Given the description of an element on the screen output the (x, y) to click on. 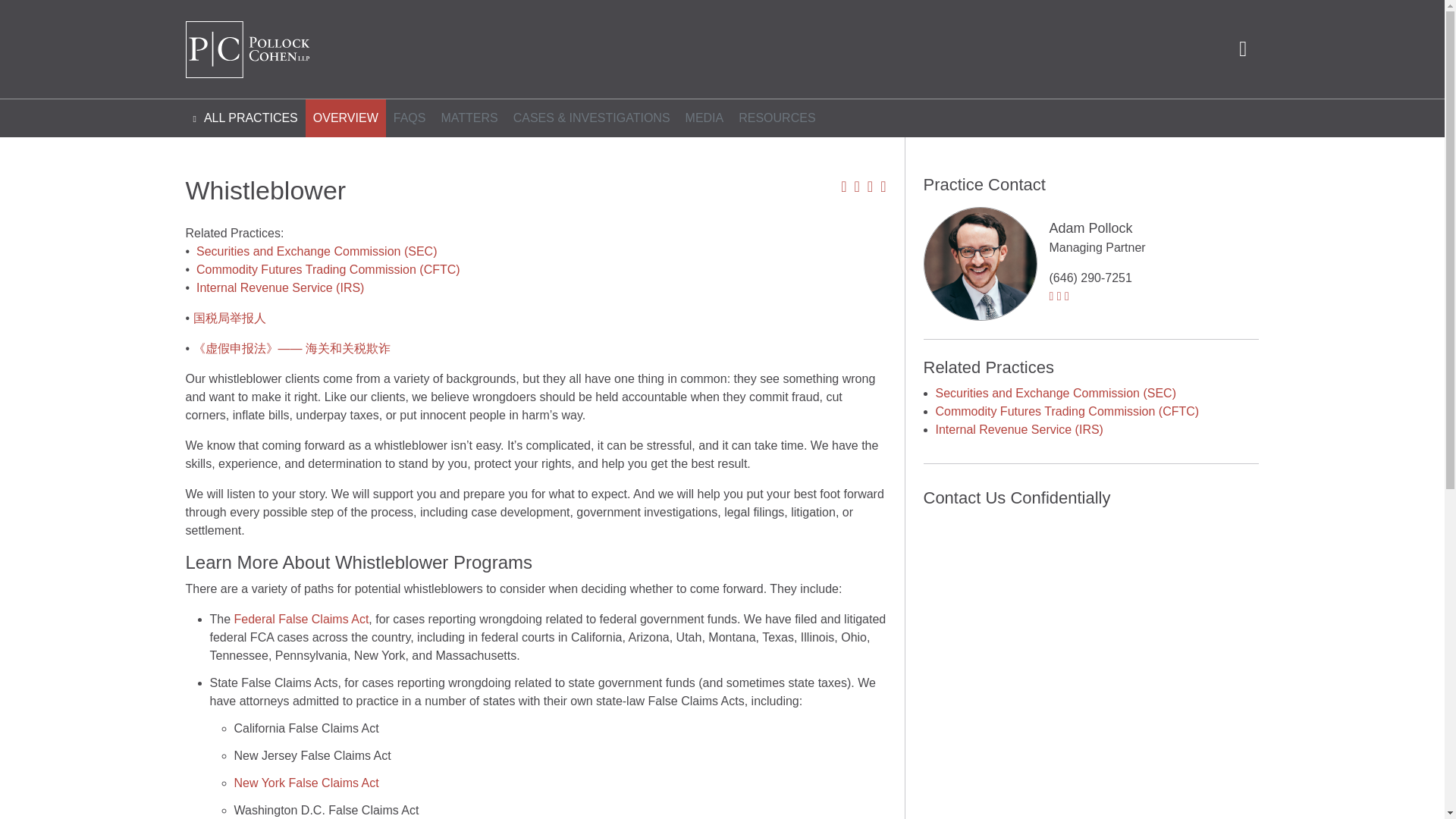
MATTERS (468, 118)
OVERVIEW (345, 118)
ALL PRACTICES (244, 118)
MEDIA (705, 118)
RESOURCES (776, 118)
FAQS (409, 118)
